Given the description of an element on the screen output the (x, y) to click on. 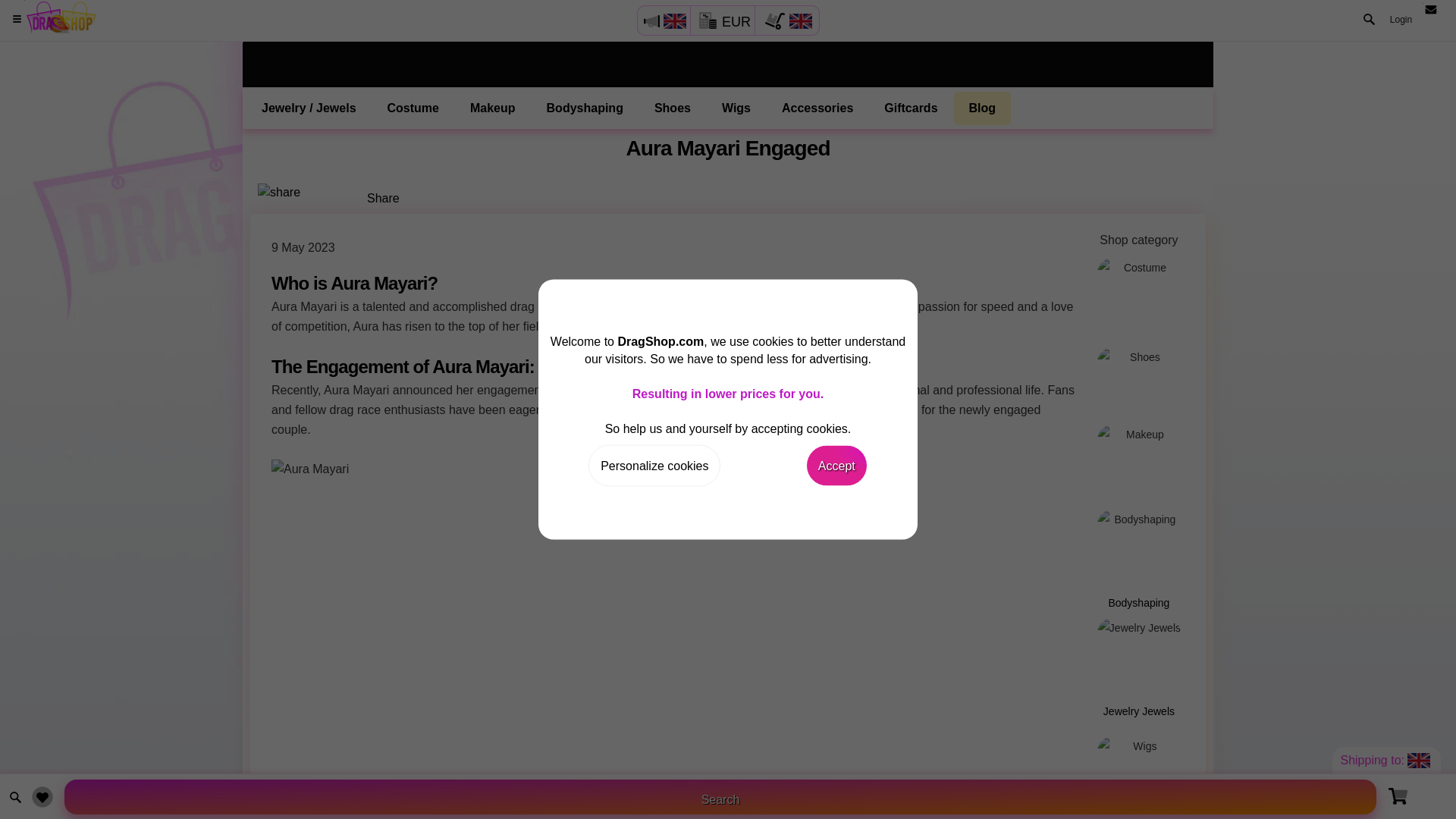
Shoes (1138, 378)
Drag Queen Makeup (492, 108)
Bodyshaping (585, 108)
Drag Queen Accessories (817, 108)
Drag Queen Accessories (1138, 812)
Drag Queen Shoes (672, 108)
Drag Queen Giftcards (910, 108)
Makeup (1138, 459)
Drag Queen Bodyshaping (1138, 555)
Shoes (672, 108)
Wigs (735, 108)
Blog (982, 108)
Makeup (492, 108)
Search (719, 796)
Bodyshaping (1138, 555)
